Given the description of an element on the screen output the (x, y) to click on. 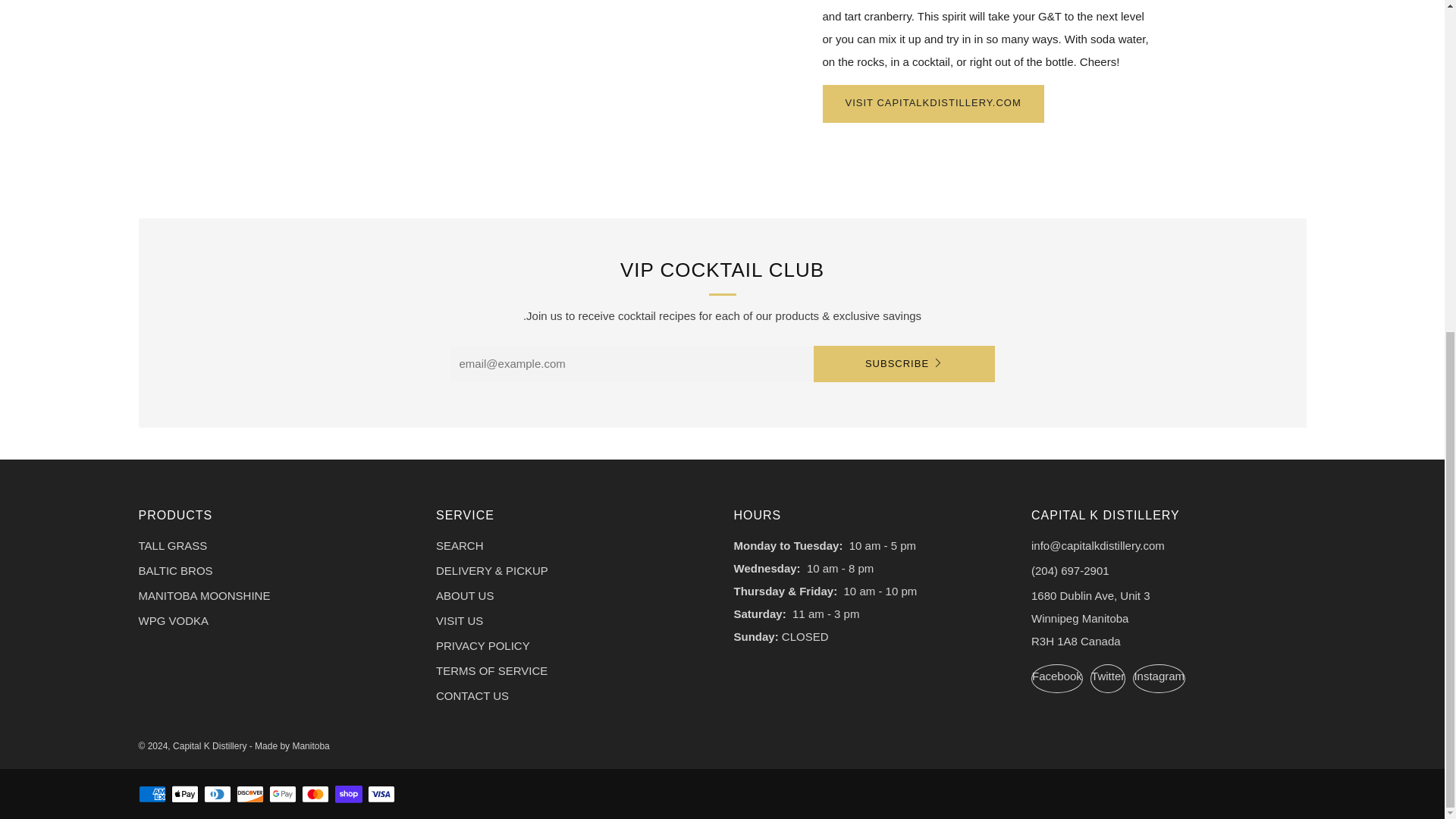
VISIT CAPITALKDISTILLERY.COM (932, 103)
SEARCH (459, 545)
WPG VODKA (173, 620)
SUBSCRIBE (903, 363)
BALTIC BROS (175, 570)
TALL GRASS (172, 545)
MANITOBA MOONSHINE (203, 594)
